Given the description of an element on the screen output the (x, y) to click on. 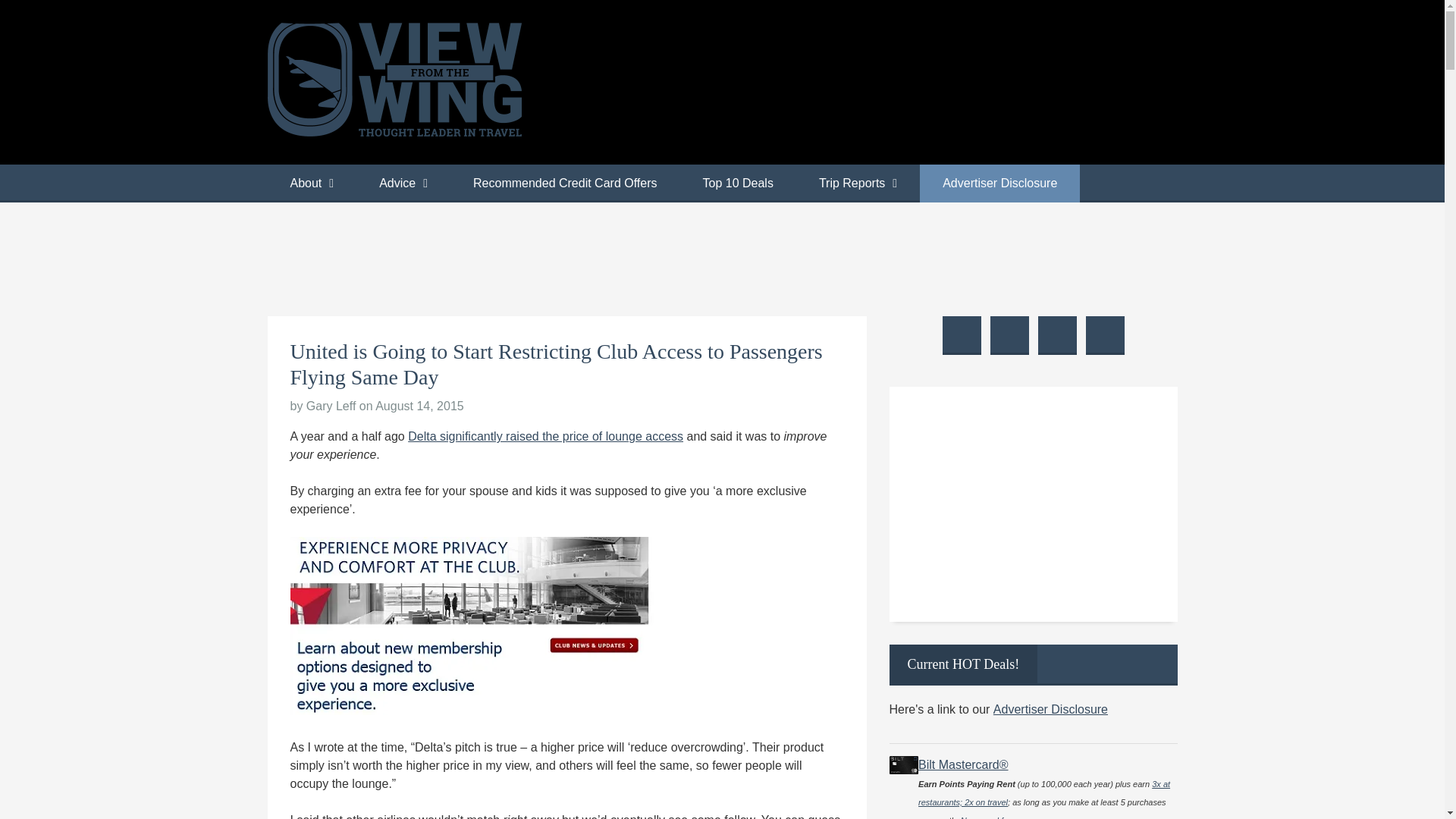
Trip Reports (858, 183)
Advertiser Disclosure (1000, 183)
Recommended Credit Card Offers (564, 183)
Gary Leff (330, 405)
Top 10 Deals (736, 183)
Advice (402, 183)
Delta significantly raised the price of lounge access (544, 436)
About (311, 183)
